Given the description of an element on the screen output the (x, y) to click on. 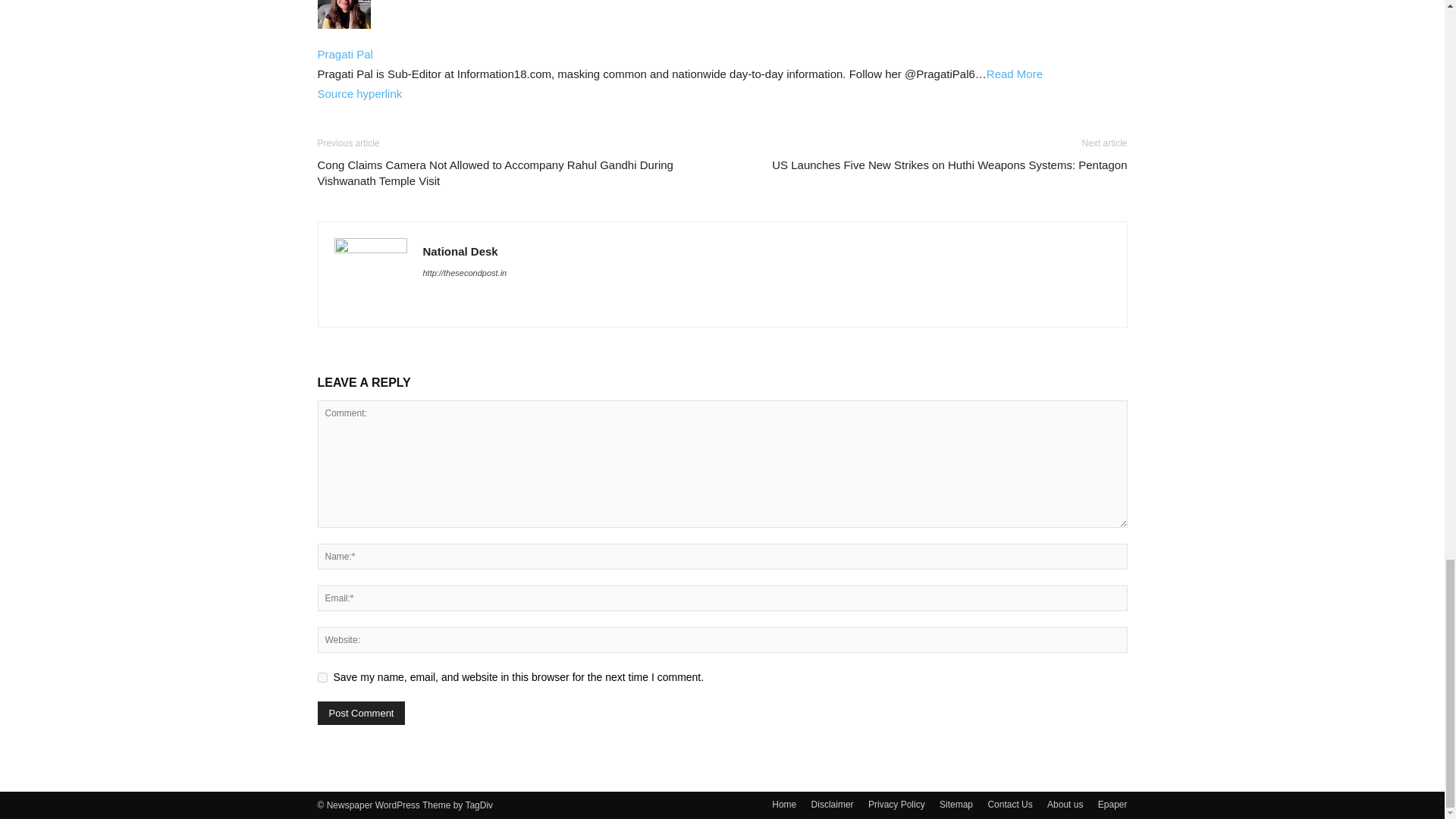
yes (321, 677)
Post Comment (360, 712)
